Given the description of an element on the screen output the (x, y) to click on. 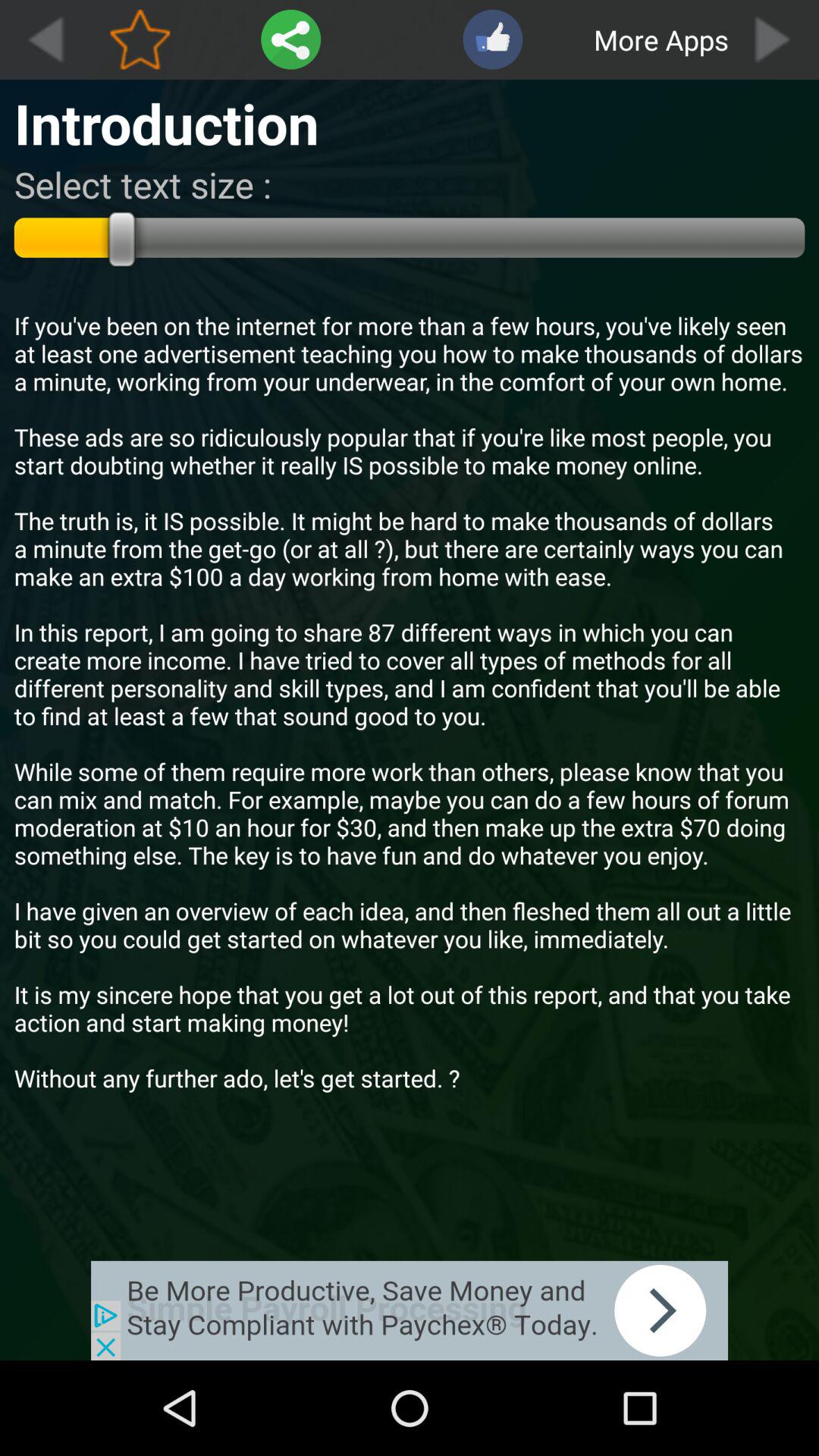
add to favorites (140, 39)
